Given the description of an element on the screen output the (x, y) to click on. 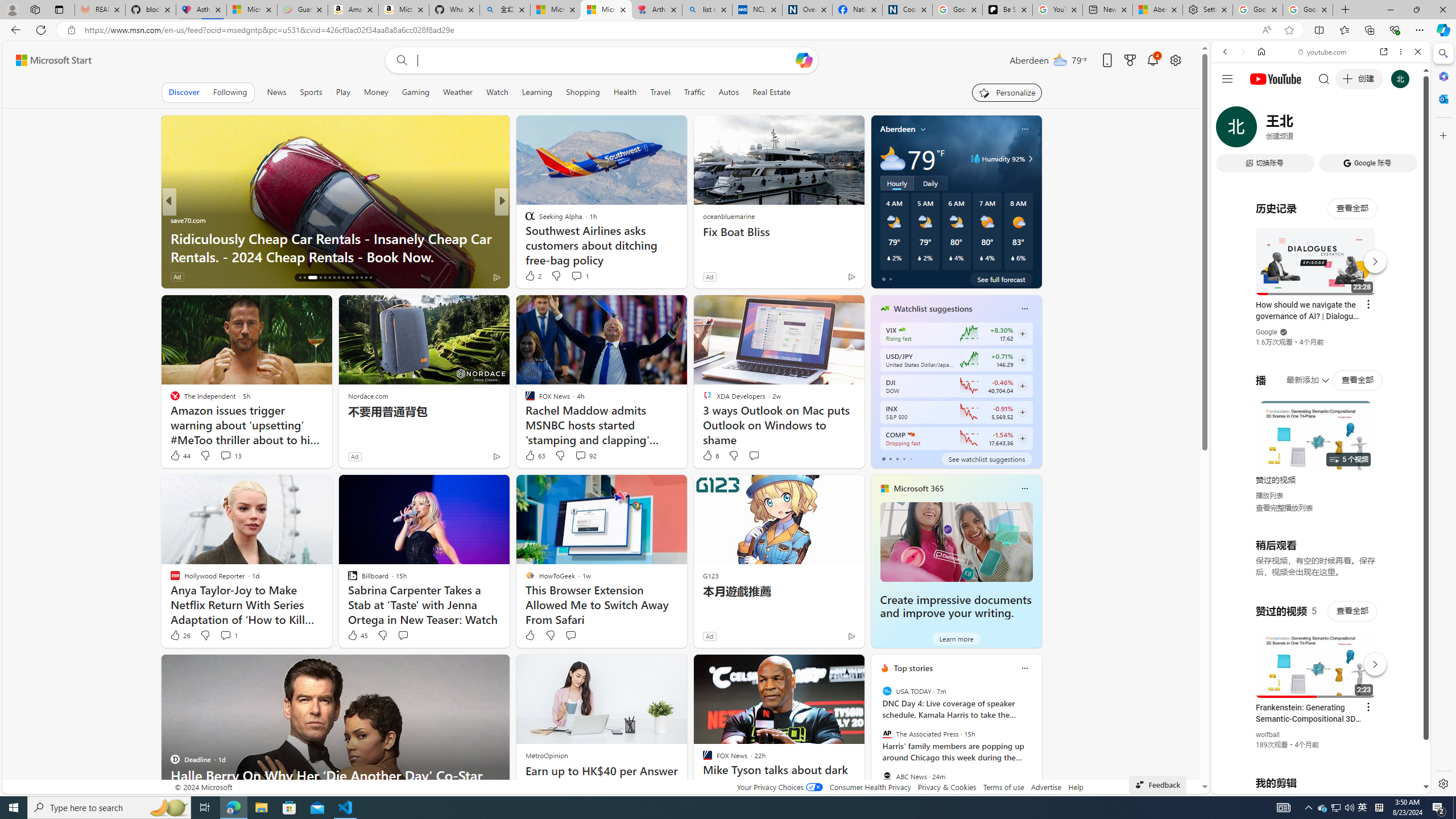
Money (375, 92)
SB Nation (524, 219)
Google (1266, 331)
16 Like (530, 276)
Watchlist suggestions (932, 308)
This story is trending (829, 279)
